Given the description of an element on the screen output the (x, y) to click on. 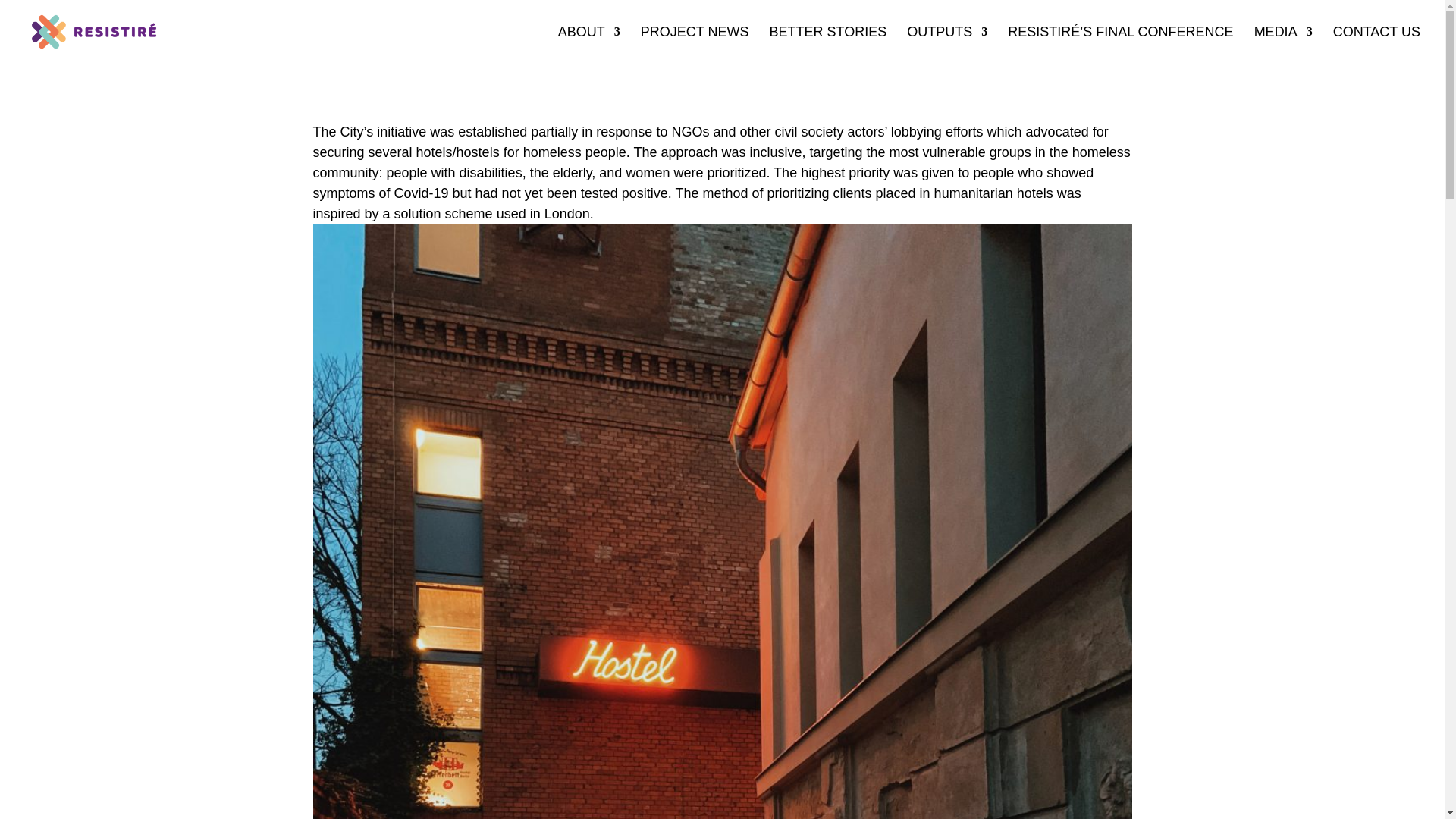
OUTPUTS (947, 44)
CONTACT US (1377, 44)
BETTER STORIES (827, 44)
MEDIA (1283, 44)
PROJECT NEWS (694, 44)
ABOUT (588, 44)
